Given the description of an element on the screen output the (x, y) to click on. 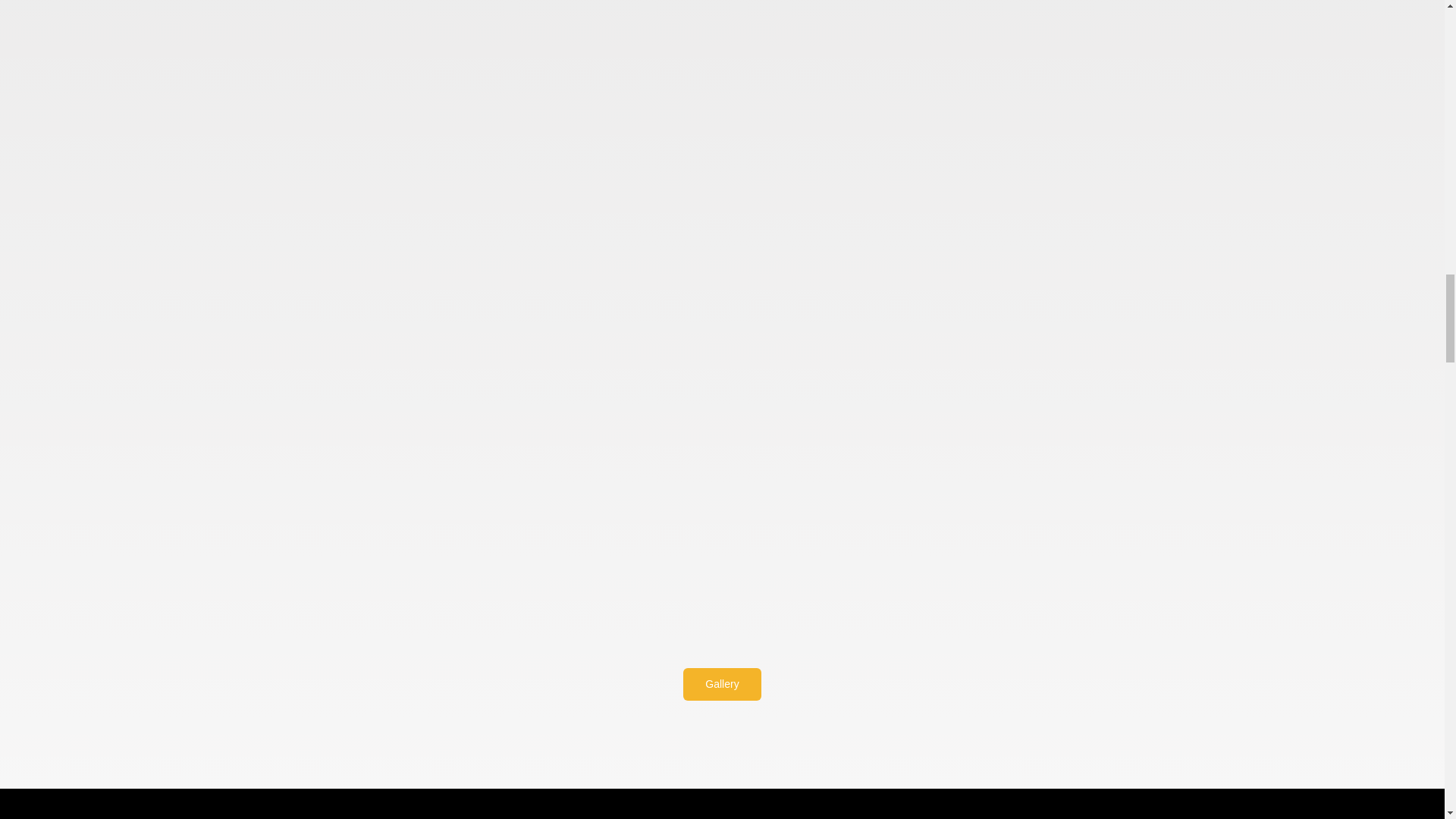
Nicolas Goldstein (722, 110)
John BENATOUIL (1153, 110)
Lionel copys (290, 110)
Gallery (721, 684)
